Given the description of an element on the screen output the (x, y) to click on. 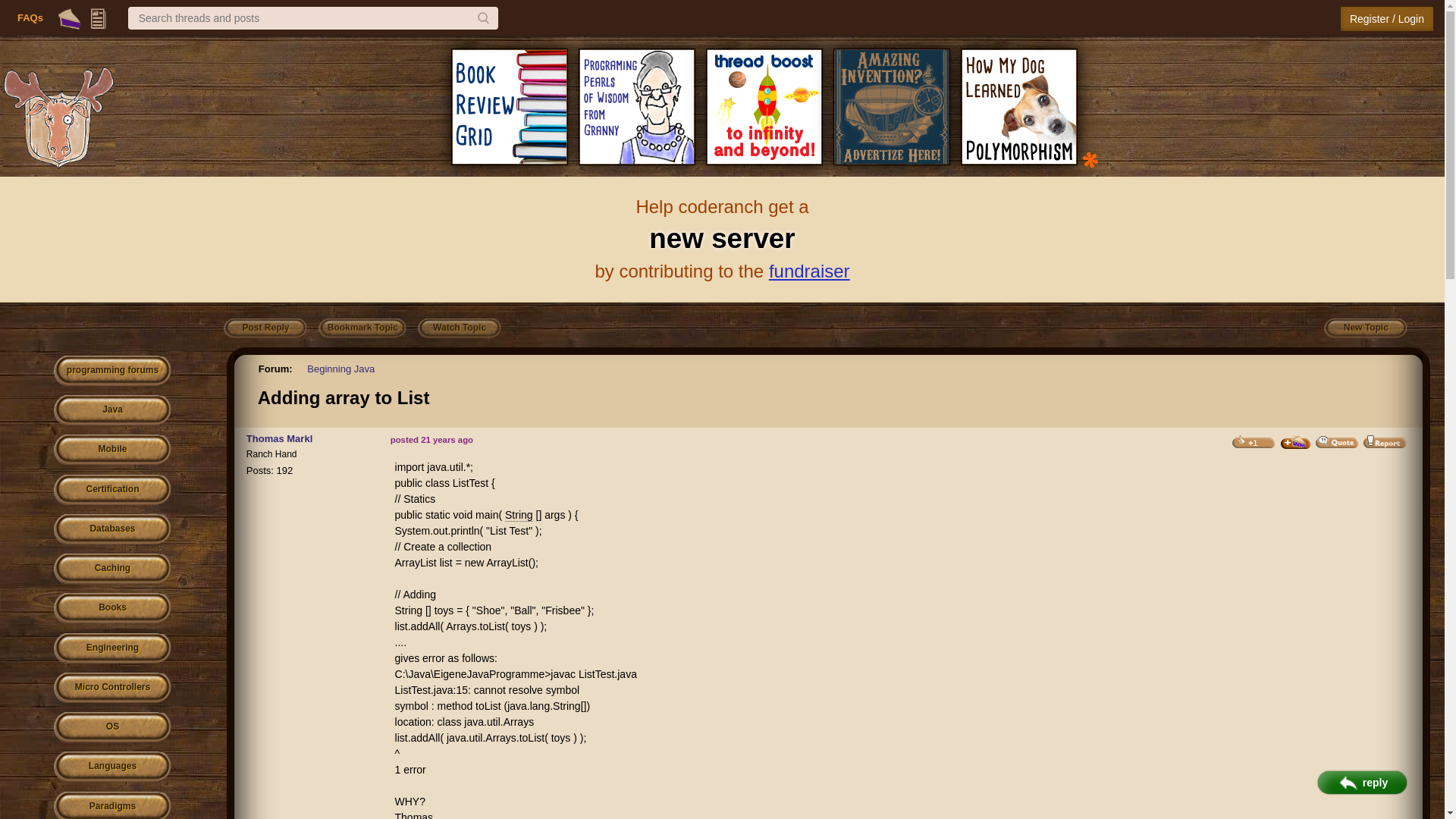
Databases (112, 529)
Micro Controllers (112, 687)
Pie (69, 18)
Languages (112, 766)
Mobile (112, 450)
You must log in or register to be able to reply (265, 328)
Mobile (112, 450)
You must login or register to be able to bookmark this topic (362, 328)
Java (112, 409)
Caching (112, 568)
OS (112, 726)
Java (112, 409)
You must log in or register to be able to create a new topic (1365, 328)
Databases (112, 529)
